Given the description of an element on the screen output the (x, y) to click on. 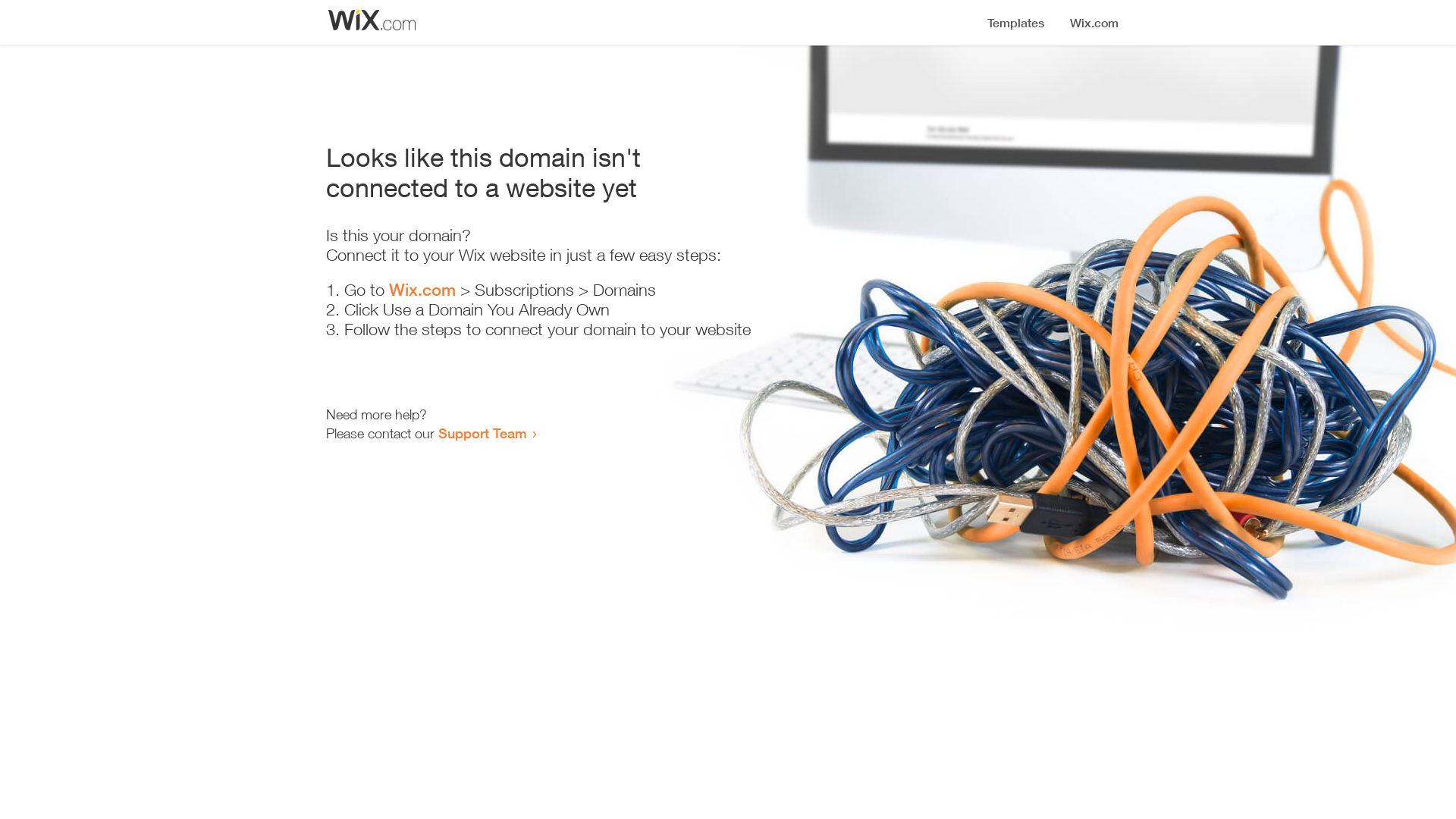
Wix.com Element type: text (422, 289)
Support Team Element type: text (482, 432)
